Given the description of an element on the screen output the (x, y) to click on. 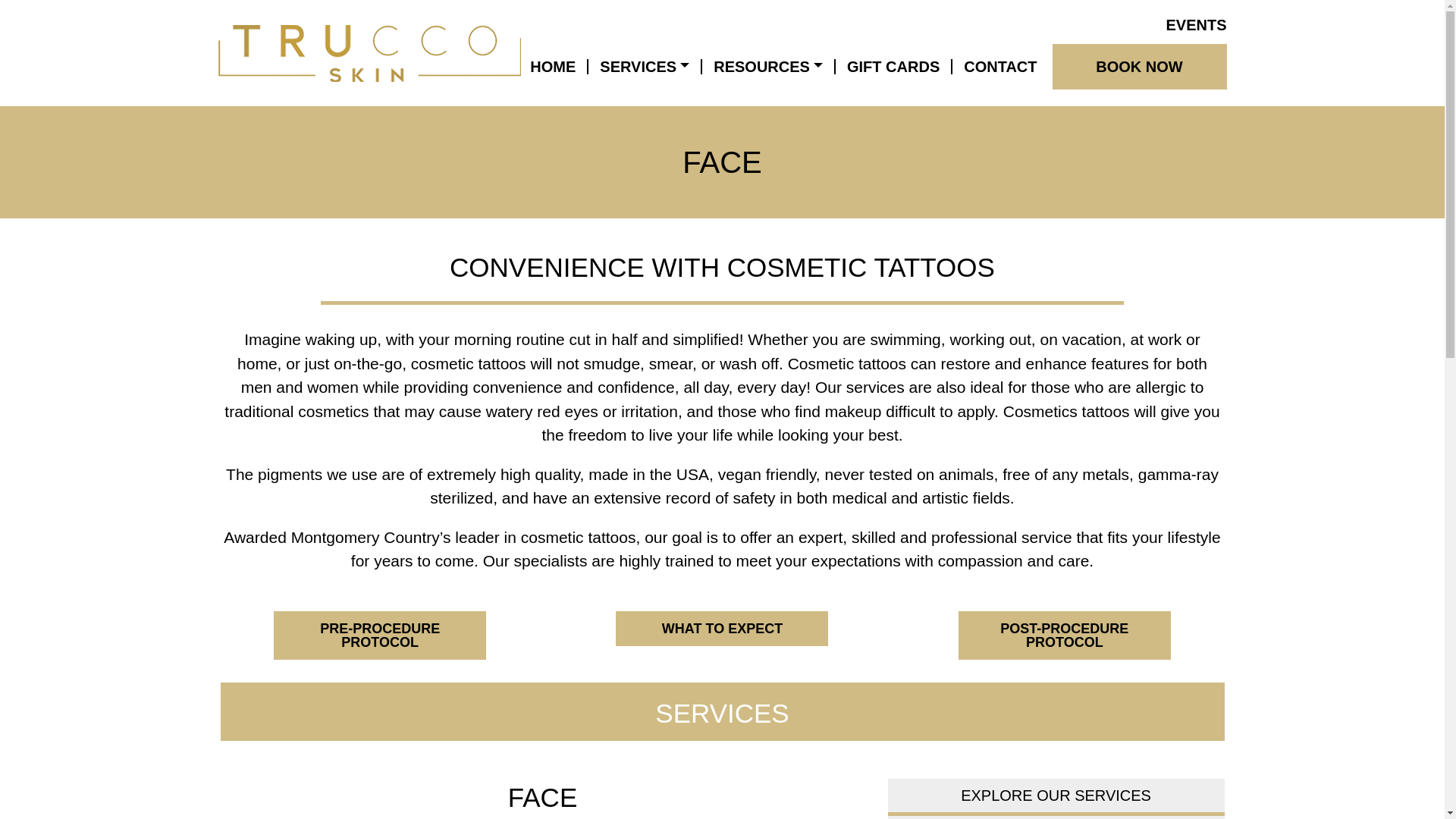
RESOURCES (767, 66)
CONTACT (999, 66)
POST-PROCEDURE PROTOCOL (1064, 635)
BOOK NOW (1139, 66)
SERVICES (643, 66)
HOME (552, 66)
GIFT CARDS (893, 66)
EVENTS (1191, 23)
WHAT TO EXPECT (721, 628)
PRE-PROCEDURE PROTOCOL (379, 635)
